Given the description of an element on the screen output the (x, y) to click on. 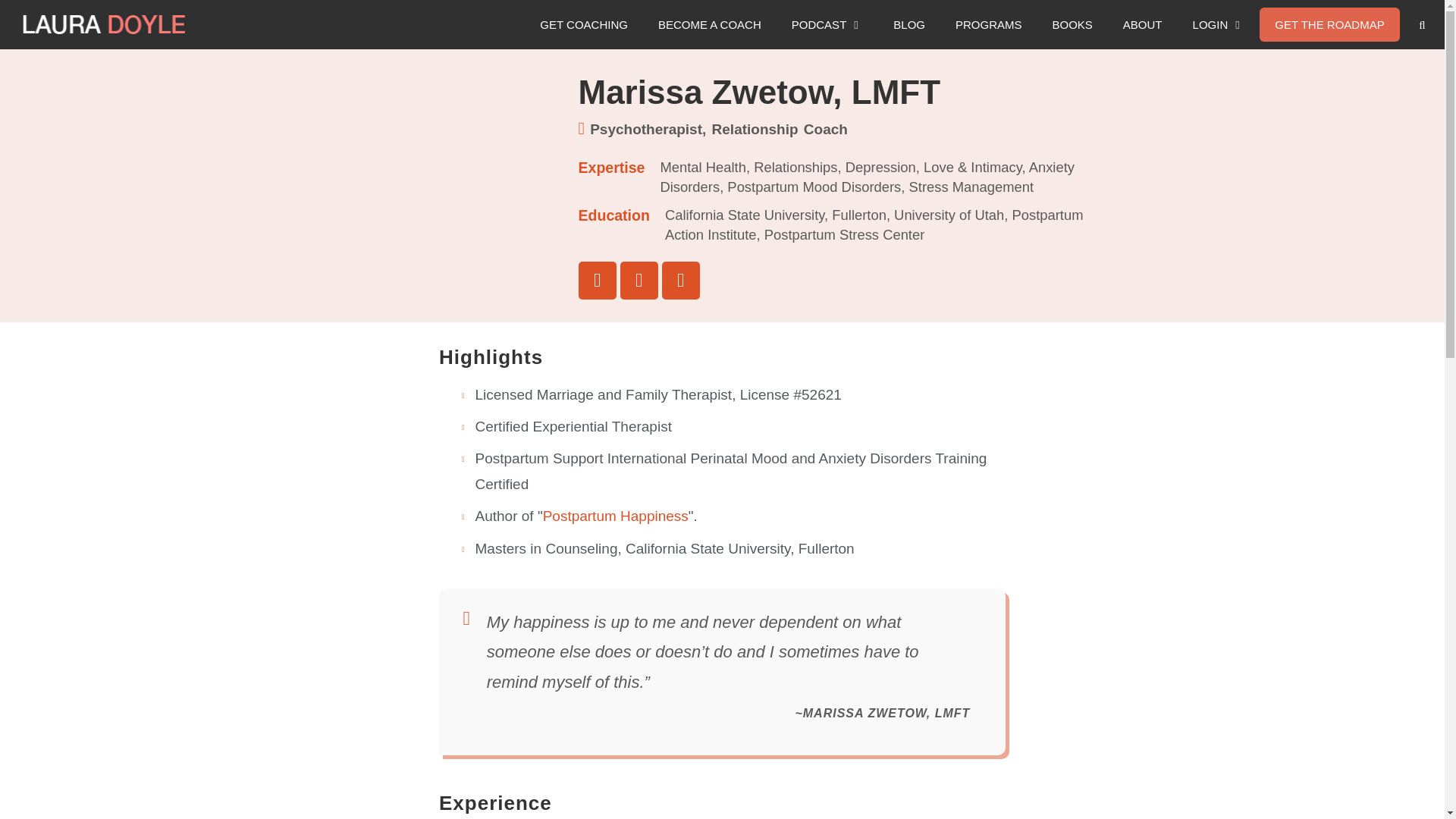
GET COACHING (583, 24)
LOGIN (1218, 24)
BECOME A COACH (709, 24)
PROGRAMS (988, 24)
GET THE ROADMAP (1329, 24)
BLOG (908, 24)
Laura Doyle (107, 24)
ABOUT (1142, 24)
PODCAST (827, 24)
Postpartum Happiness (615, 515)
